Given the description of an element on the screen output the (x, y) to click on. 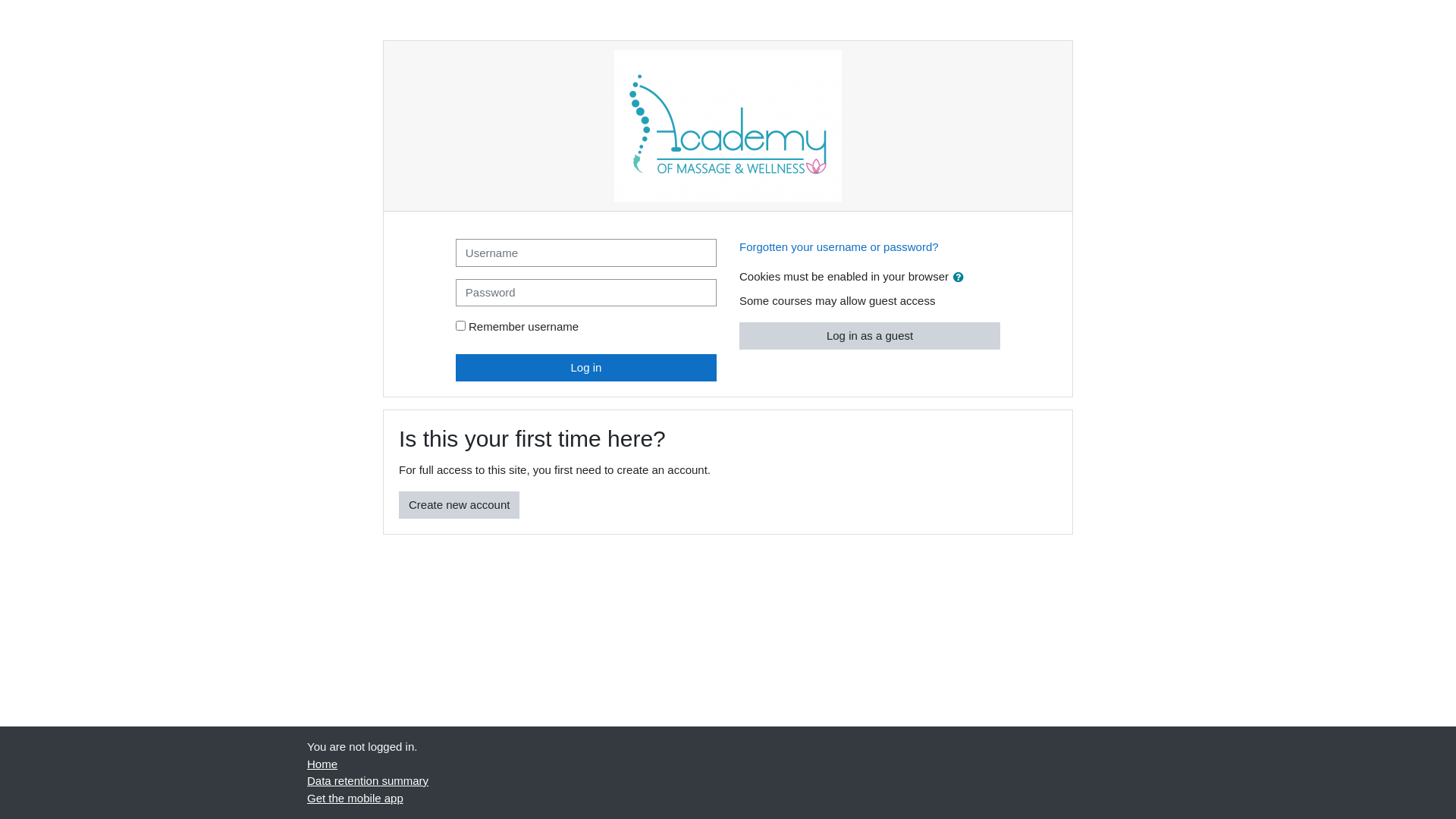
Create new account Element type: text (458, 505)
Home Element type: text (322, 762)
Help with Cookies must be enabled in your browser Element type: hover (958, 275)
Log in as a guest Element type: text (869, 335)
Academy of massage and wellness Element type: hover (727, 125)
Get the mobile app Element type: text (355, 797)
Data retention summary Element type: text (367, 780)
Log in Element type: text (585, 367)
Forgotten your username or password? Element type: text (838, 246)
